Given the description of an element on the screen output the (x, y) to click on. 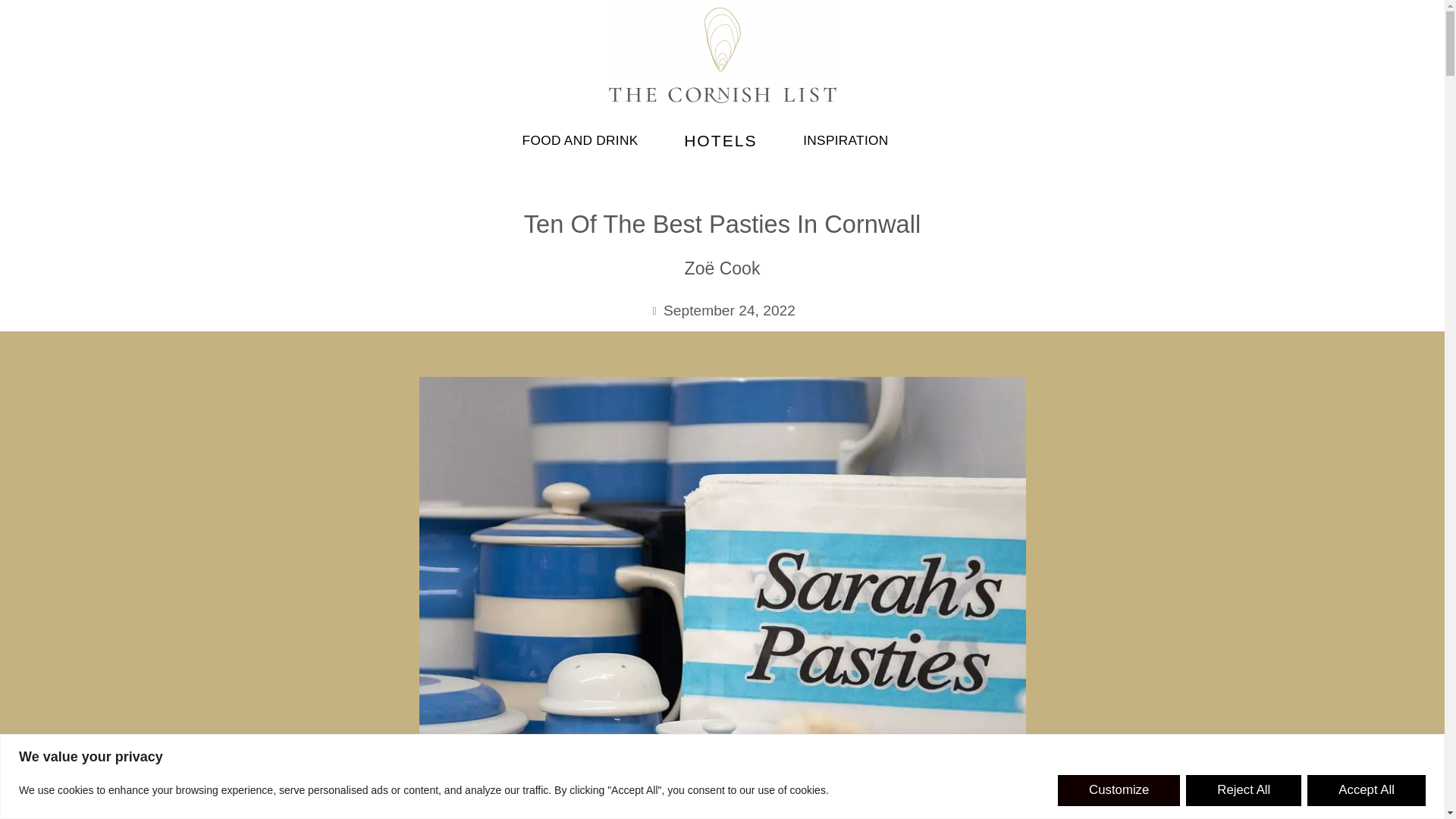
FOOD AND DRINK (580, 140)
Customize (1118, 789)
HOTELS (720, 140)
Reject All (1243, 789)
Accept All (1366, 789)
INSPIRATION (845, 140)
September 24, 2022 (721, 310)
